Given the description of an element on the screen output the (x, y) to click on. 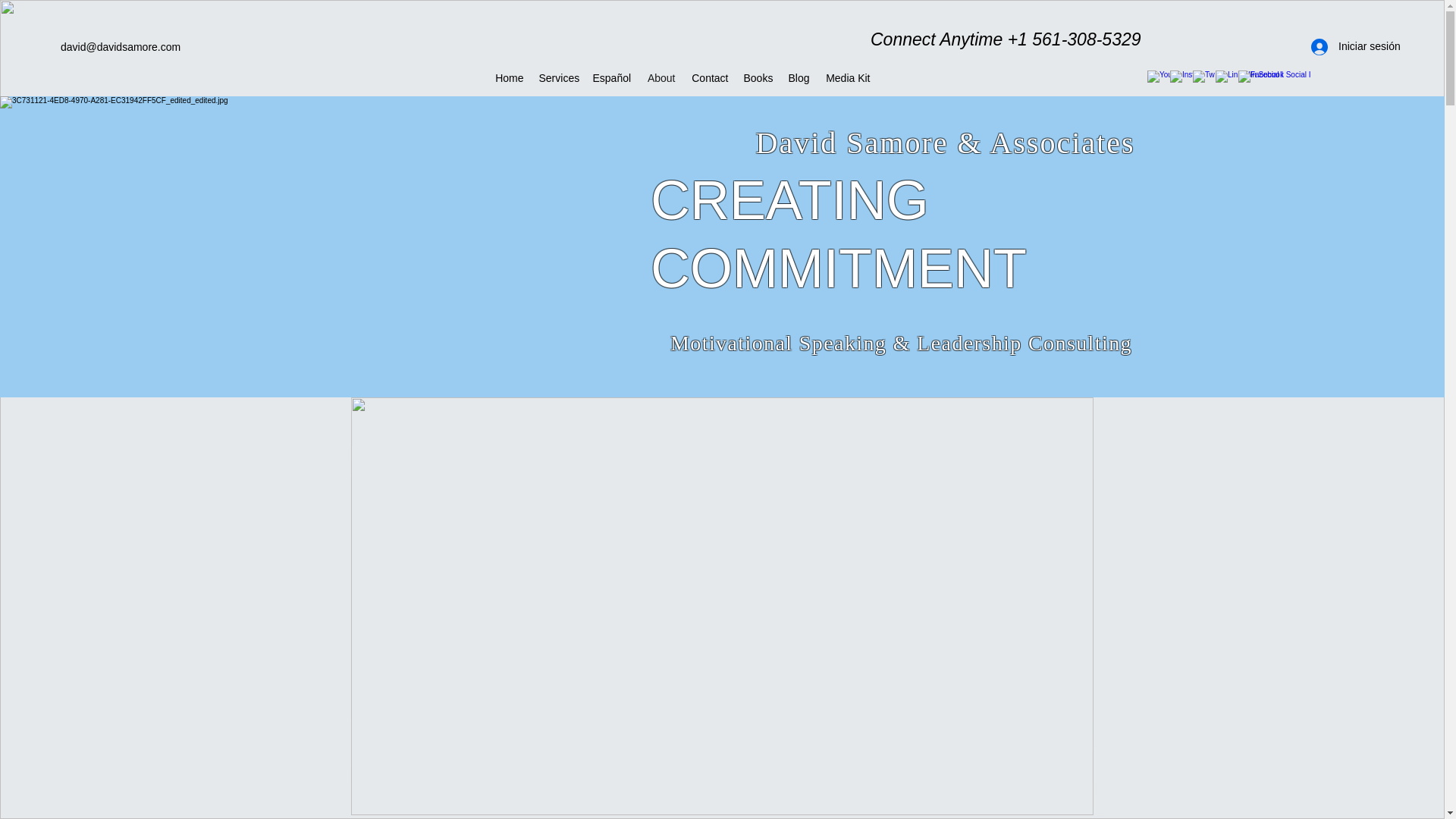
Media Kit (846, 77)
Contact (708, 77)
About (659, 77)
Books (756, 77)
Blog (797, 77)
Services (558, 77)
Home (508, 77)
